Given the description of an element on the screen output the (x, y) to click on. 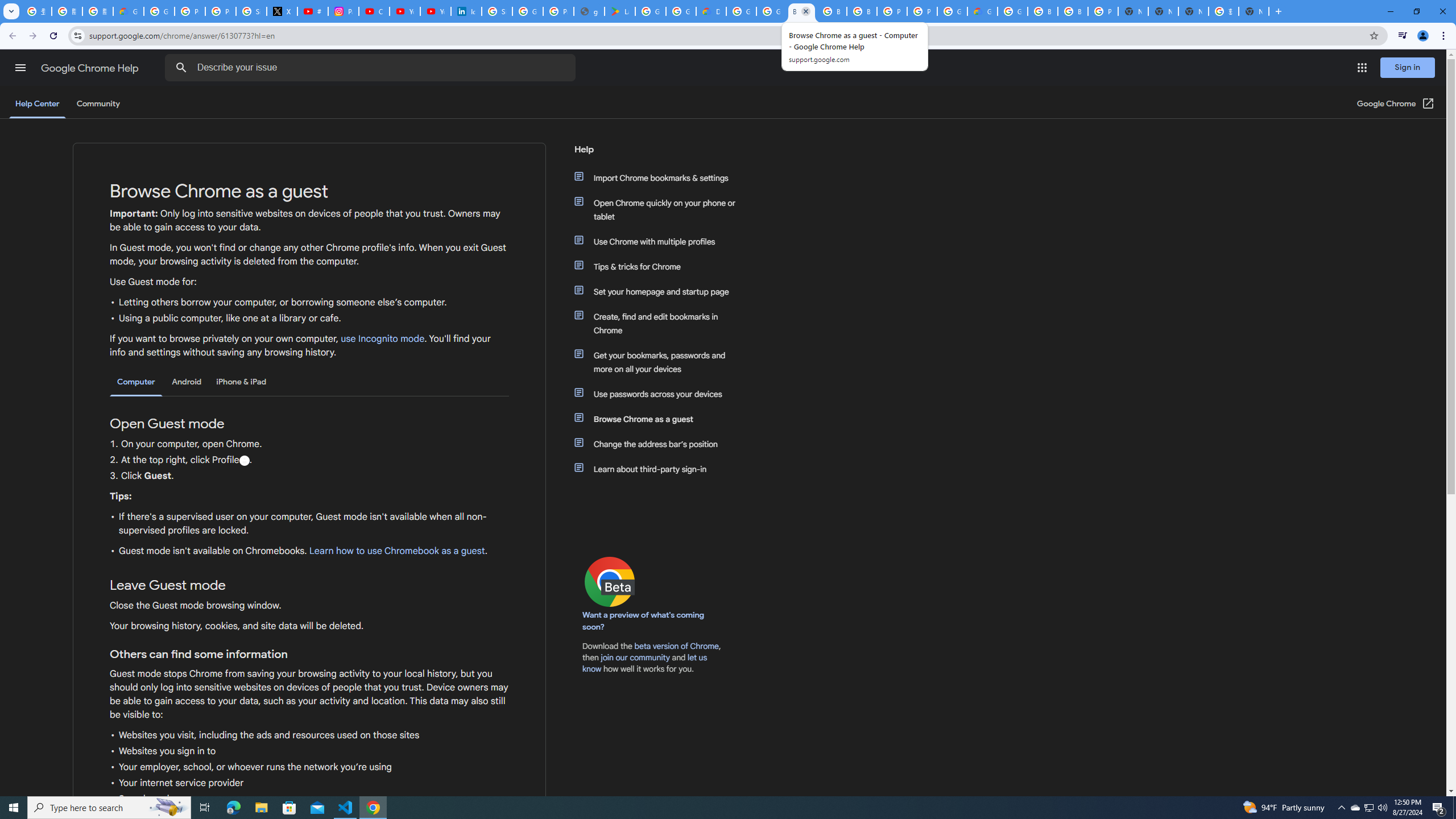
beta version of Chrome (676, 646)
Profile (243, 460)
Android (186, 381)
Google Chrome Help (90, 68)
Use passwords across your devices (661, 394)
#nbabasketballhighlights - YouTube (312, 11)
Sign in - Google Accounts (251, 11)
Sign in - Google Accounts (496, 11)
Learn how to use Chromebook as a guest (396, 550)
Open Chrome quickly on your phone or tablet (661, 209)
New Tab (1253, 11)
